Given the description of an element on the screen output the (x, y) to click on. 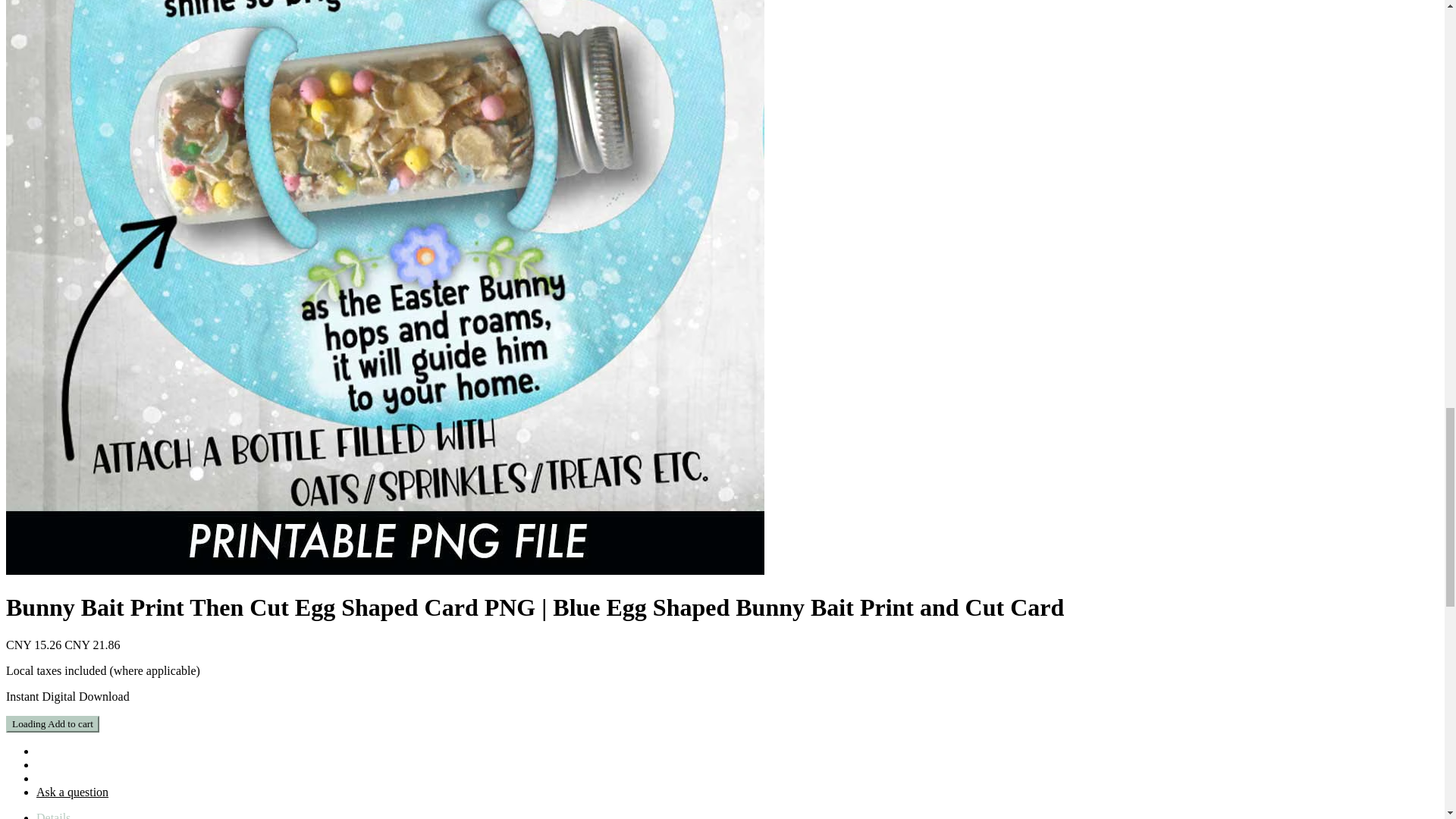
Loading Add to cart (52, 723)
Ask a question (71, 791)
Details (52, 815)
